Given the description of an element on the screen output the (x, y) to click on. 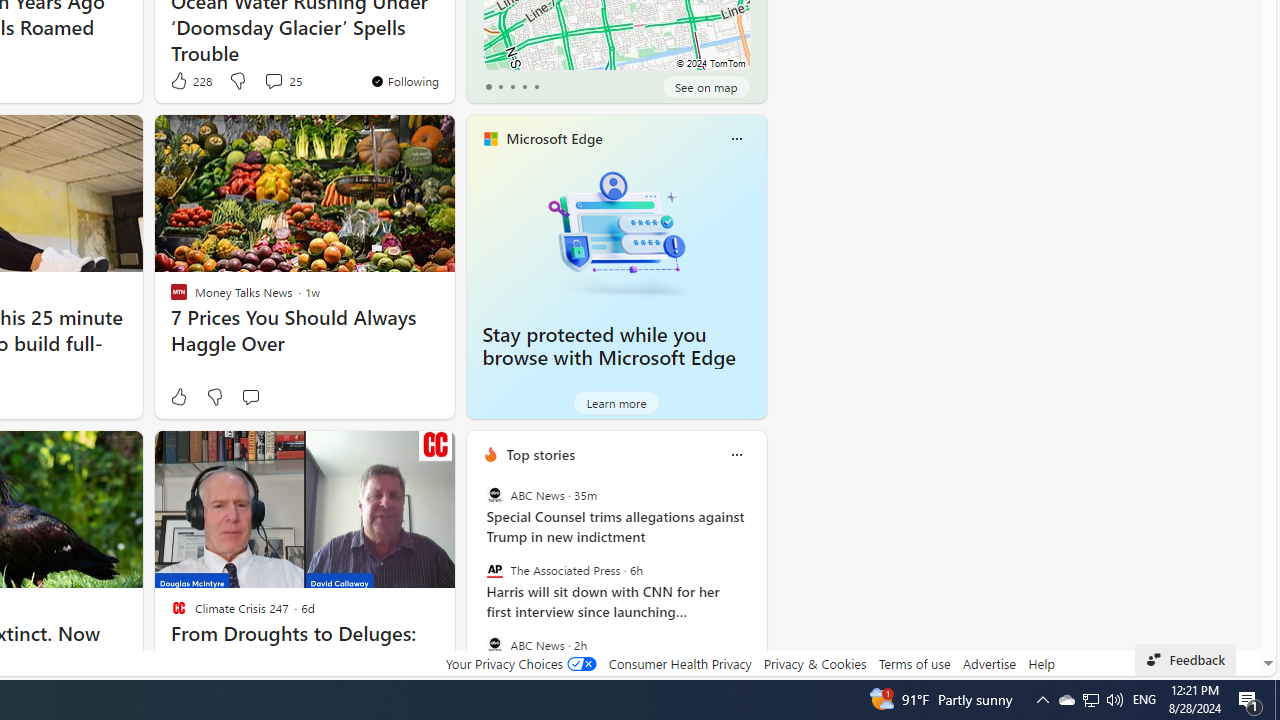
228 Like (190, 80)
View comments 25 Comment (281, 80)
Help (1040, 663)
Terms of use (914, 663)
Hide this story (393, 454)
View comments 25 Comment (273, 80)
Like (178, 397)
next (756, 583)
You're following The Weather Channel (404, 80)
